Given the description of an element on the screen output the (x, y) to click on. 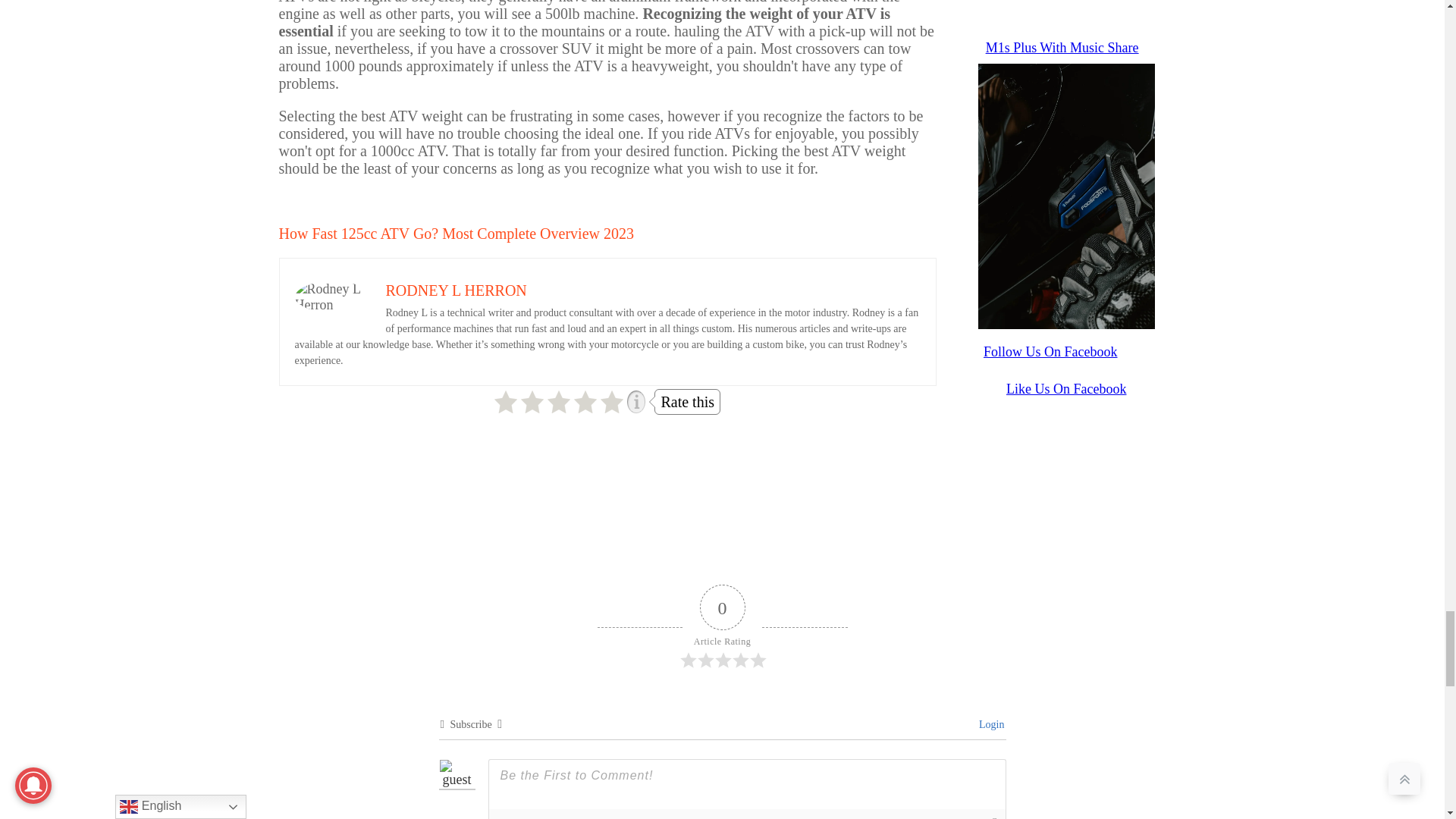
Bold (503, 816)
Link (673, 816)
Italic (524, 816)
Strike (567, 816)
Unordered List (609, 816)
Blockquote (631, 816)
Underline (545, 816)
Ordered List (588, 816)
Code Block (652, 816)
